Given the description of an element on the screen output the (x, y) to click on. 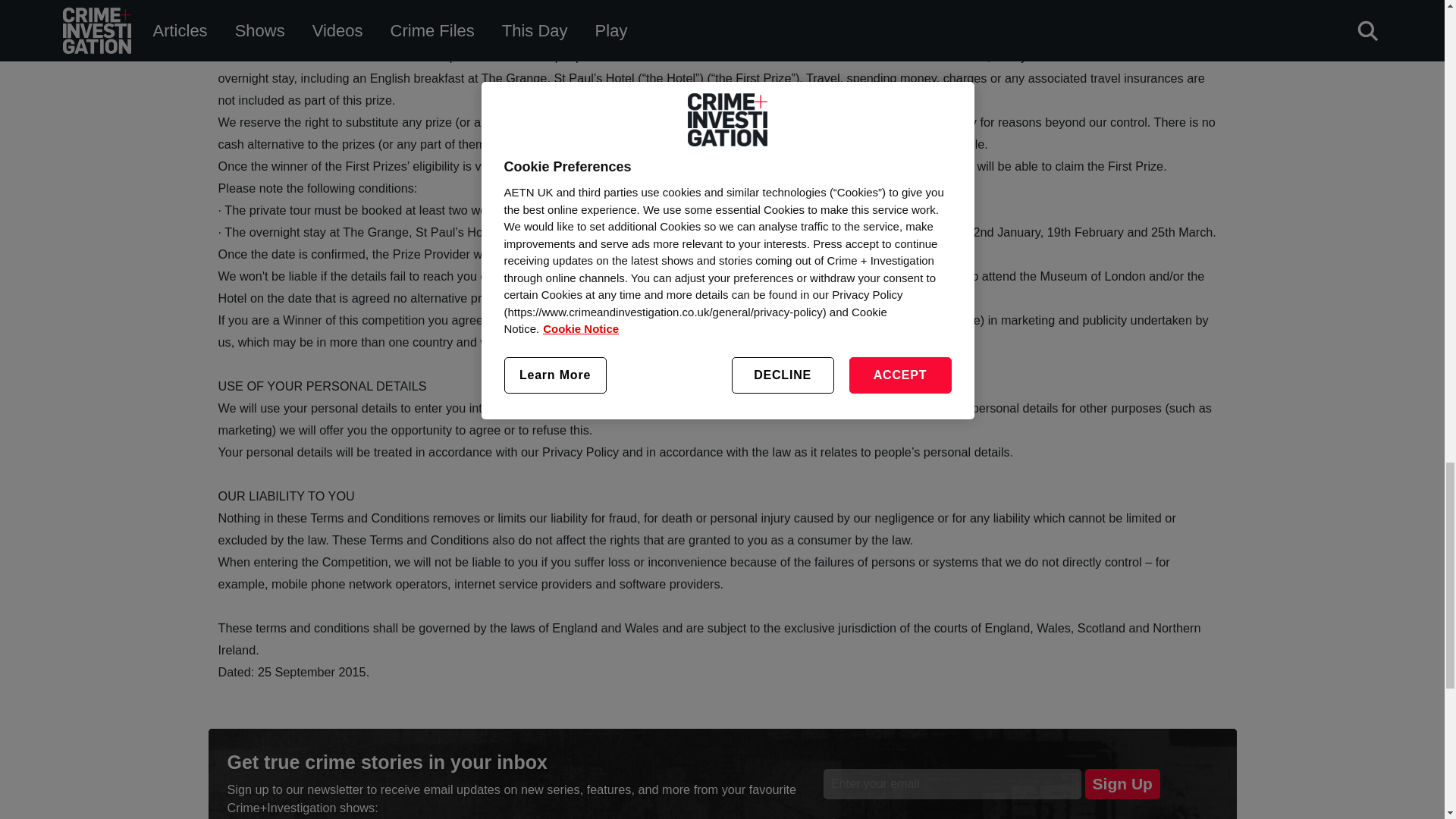
Sign Up (1122, 784)
Sign Up (1122, 784)
